Given the description of an element on the screen output the (x, y) to click on. 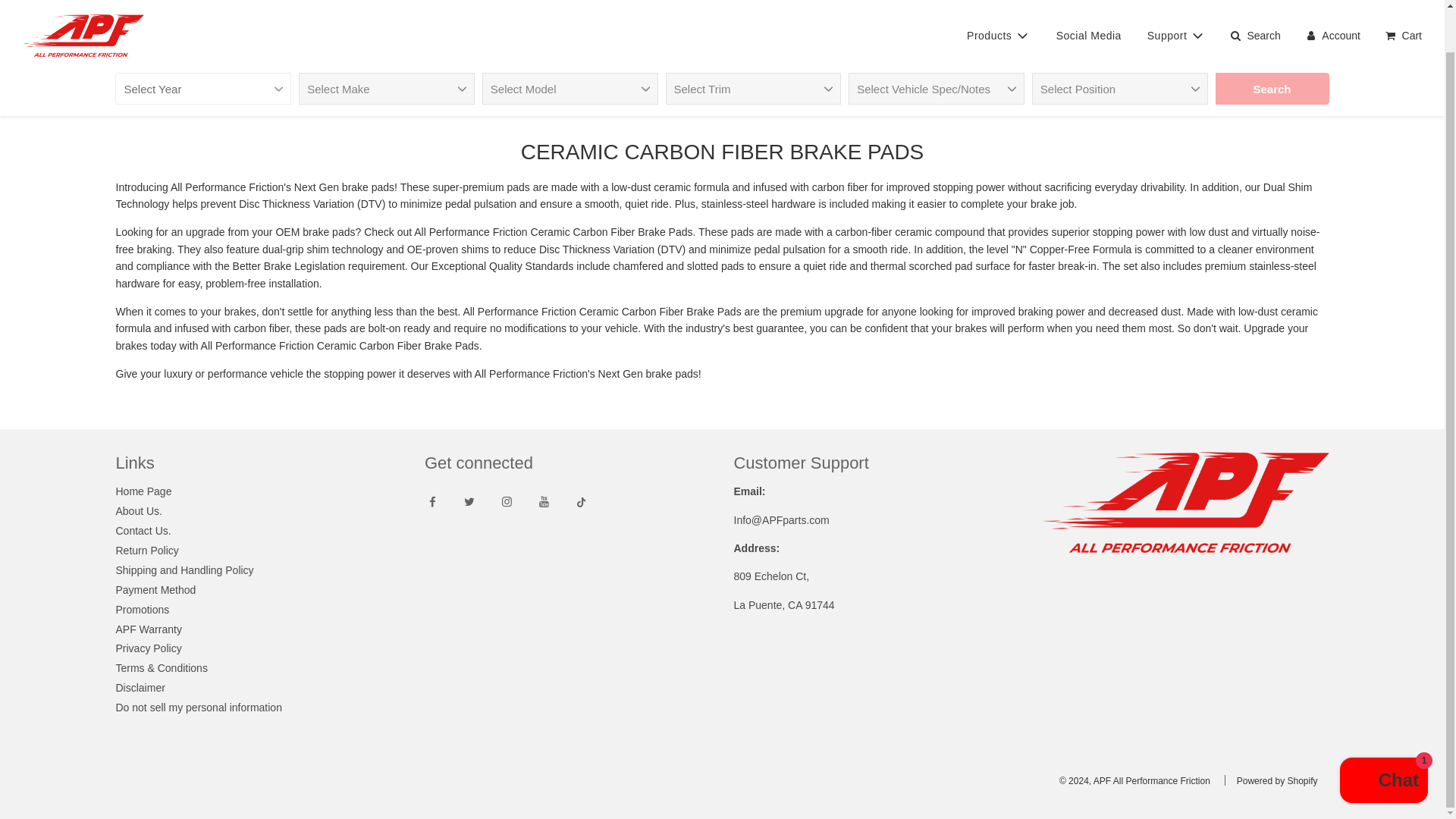
Search (1272, 79)
Shopify online store chat (1383, 737)
Social Media (1088, 25)
Log in (1331, 25)
Search (1272, 79)
Products (998, 26)
